Given the description of an element on the screen output the (x, y) to click on. 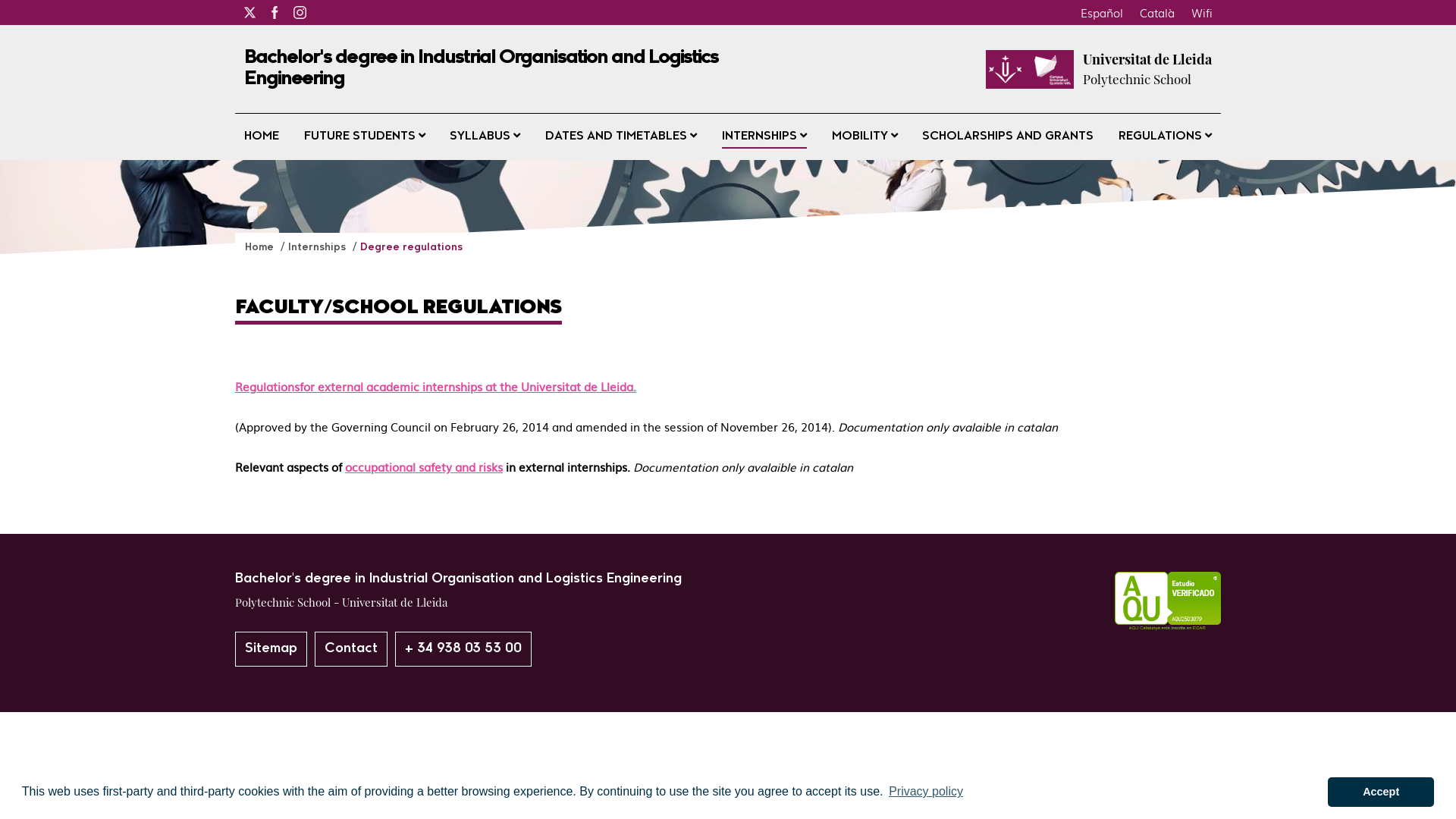
SYLLABUS Element type: text (484, 136)
Privacy policy Element type: text (925, 791)
INTERNSHIPS Element type: text (763, 136)
Wifi Element type: text (1201, 12)
REGULATIONS Element type: text (1164, 136)
MOBILITY Element type: text (864, 136)
Accept Element type: text (1380, 791)
DATES AND TIMETABLES Element type: text (621, 136)
Internships Element type: text (318, 247)
occupational safety and risks Element type: text (423, 466)
Contact Element type: text (350, 648)
FUTURE STUDENTS Element type: text (364, 136)
Degree regulations Element type: text (411, 247)
SCHOLARSHIPS AND GRANTS Element type: text (1007, 136)
Home Element type: text (260, 247)
Universitat de Lleida
Polytechnic School Element type: text (1146, 68)
Sitemap Element type: text (271, 648)
+ 34 938 03 53 00 Element type: text (463, 648)
HOME Element type: text (261, 136)
